Given the description of an element on the screen output the (x, y) to click on. 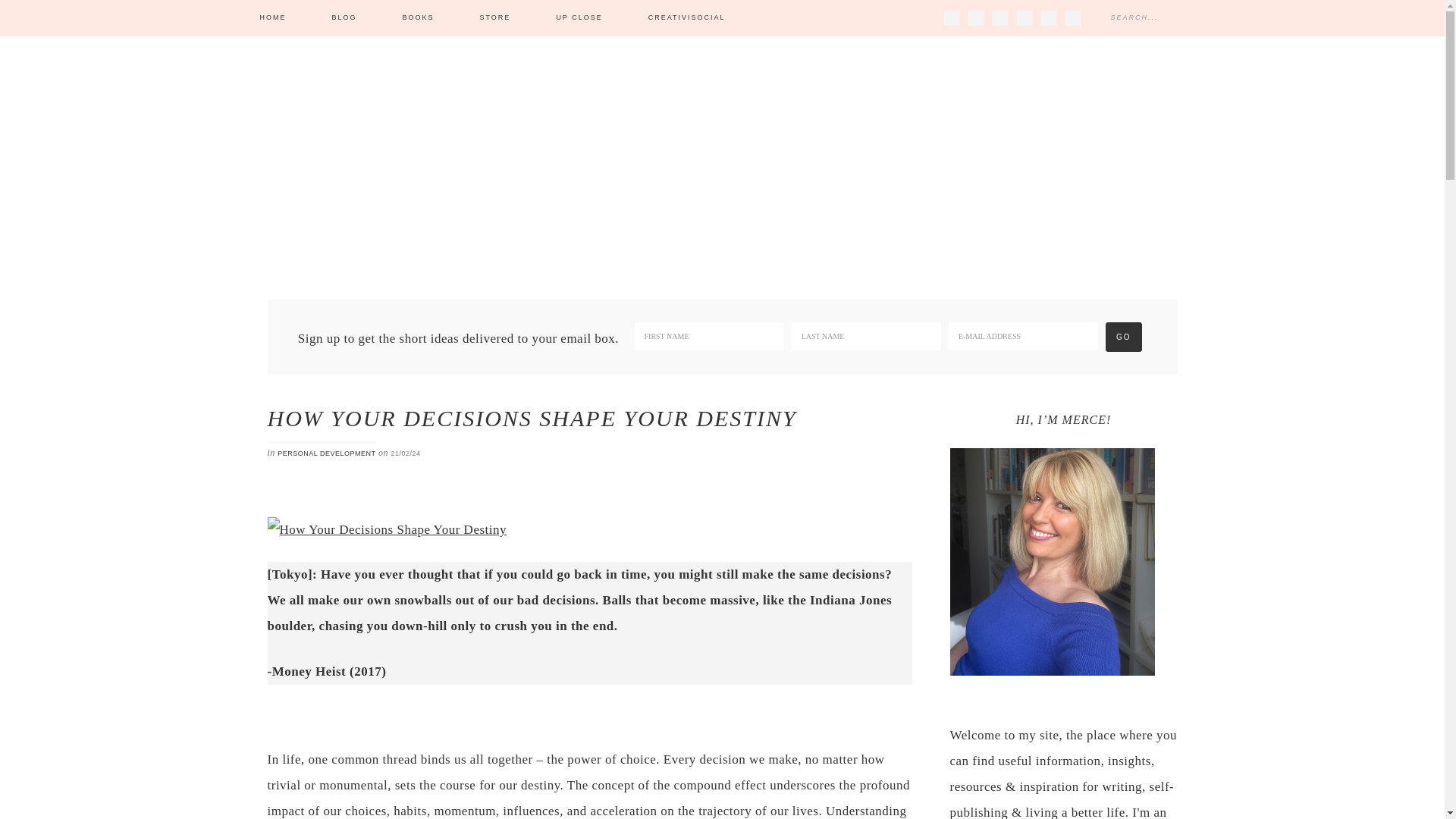
CREATIVISOCIAL (687, 18)
PERSONAL DEVELOPMENT (326, 453)
MERCE CARDUS (722, 143)
UP CLOSE (578, 18)
Go (1123, 337)
Go (1123, 337)
HOME (271, 18)
BOOKS (418, 18)
STORE (495, 18)
BLOG (344, 18)
